Given the description of an element on the screen output the (x, y) to click on. 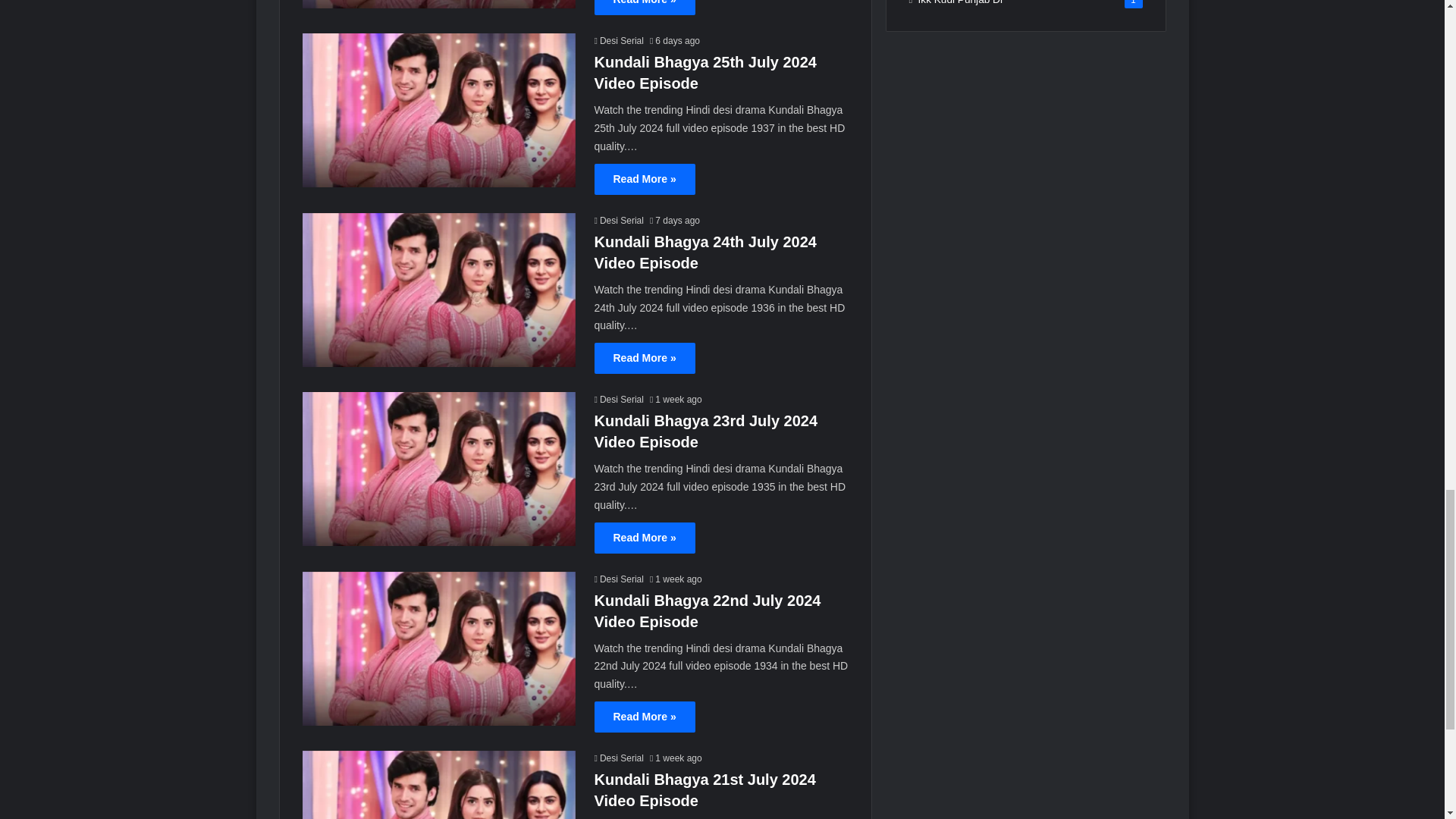
Desi Serial (618, 398)
Desi Serial (618, 757)
Desi Serial (618, 220)
Desi Serial (618, 579)
Desi Serial (618, 40)
